Given the description of an element on the screen output the (x, y) to click on. 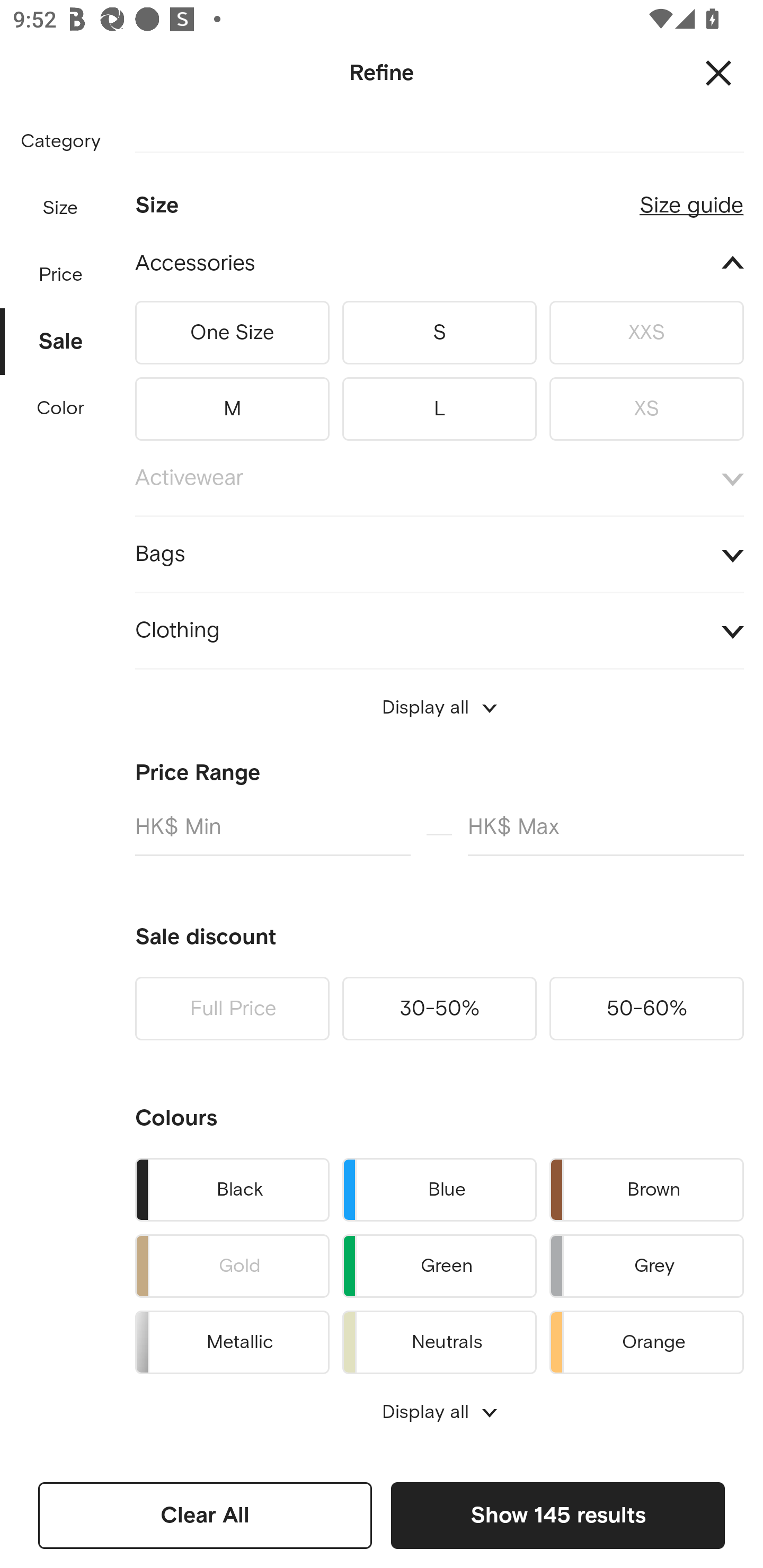
Category (60, 141)
Size (60, 208)
Size guide (691, 197)
Accessories (439, 263)
Price (60, 270)
One Size (232, 332)
S (439, 332)
XXS (646, 332)
Sale (60, 337)
Color (60, 408)
M (232, 405)
L (439, 405)
XS (646, 405)
Activewear (439, 477)
Bags (439, 553)
Clothing (439, 630)
Display all (439, 707)
HK$ Min (272, 833)
HK$ Max (605, 833)
Full Price (232, 1008)
30-50% (439, 1008)
50-60% (646, 1008)
Black (232, 1188)
Blue (439, 1188)
Brown (646, 1188)
Gold (232, 1265)
Green (439, 1265)
Grey (646, 1265)
Metallic (232, 1338)
Neutrals (439, 1338)
Orange (646, 1338)
Display all (439, 1411)
Clear All (205, 1515)
Show 145 results (557, 1515)
